Given the description of an element on the screen output the (x, y) to click on. 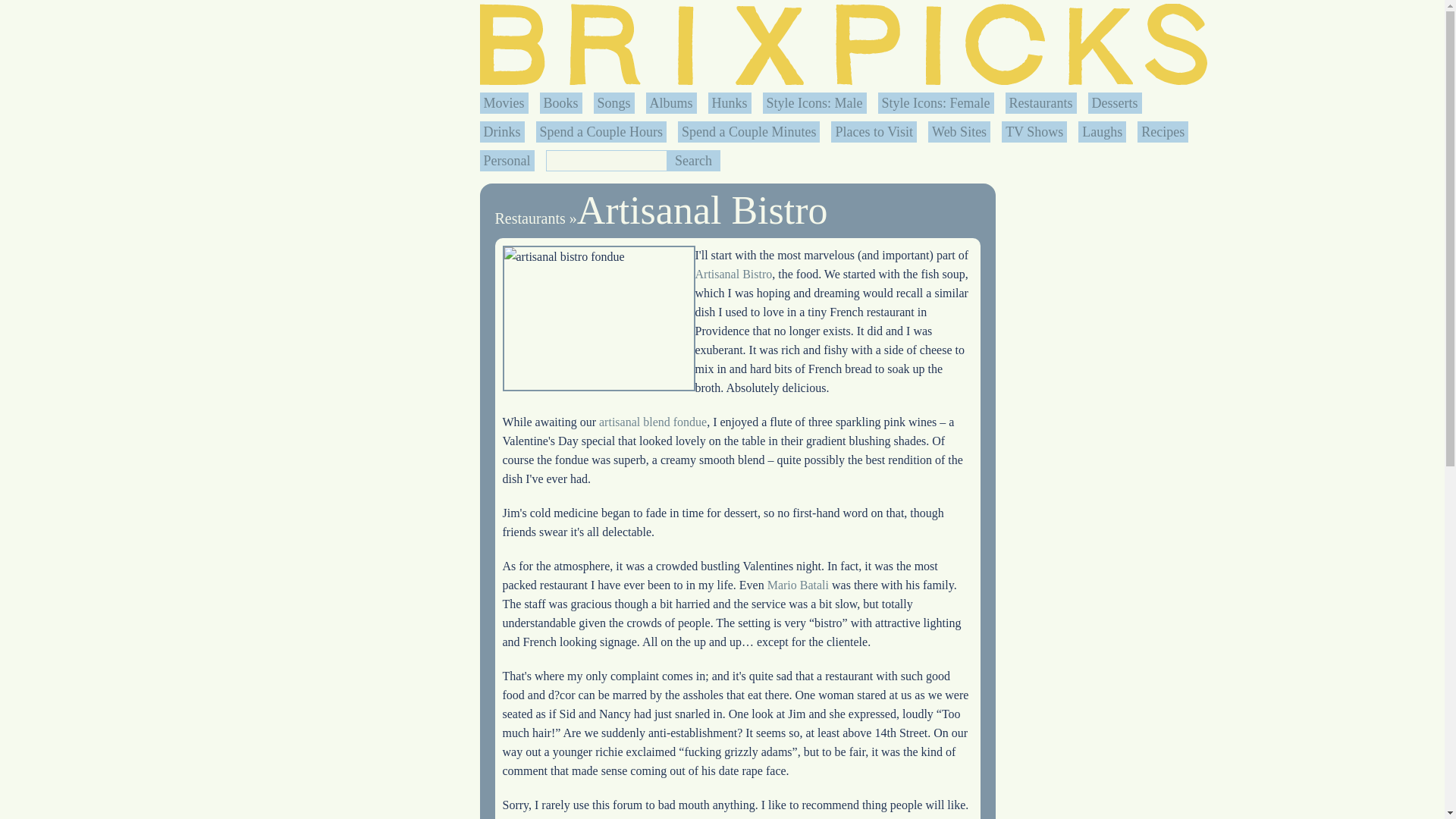
Artisanal Bistro (702, 210)
Brix Picks - Home (843, 44)
Restaurants (1041, 102)
Laughs (1101, 131)
Desserts (1115, 102)
Mario Batali (797, 584)
Search (693, 160)
artisanal blend fondue (652, 421)
Spend a Couple Hours (601, 131)
Hunks (729, 102)
Drinks (502, 131)
Movies (503, 102)
Places to Visit (873, 131)
Spend a Couple Minutes (748, 131)
Search (693, 160)
